Given the description of an element on the screen output the (x, y) to click on. 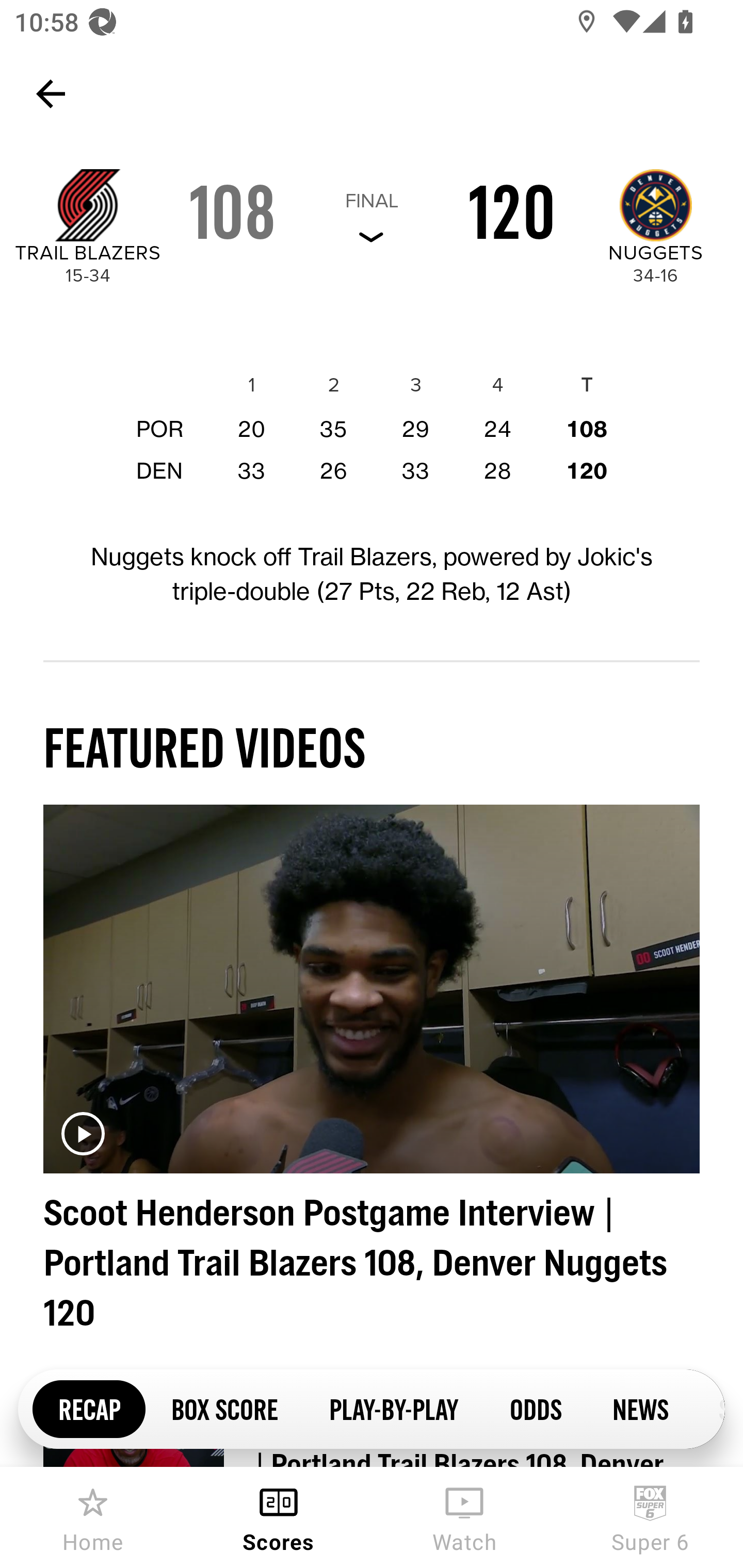
Navigate up (50, 93)
POR DEN 1 20 33 2 35 26 3 29 33 4 24 28 T 108 120 (371, 419)
FEATURED VIDEOS (204, 746)
BOX SCORE (224, 1408)
PLAY-BY-PLAY (393, 1408)
ODDS (534, 1408)
NEWS (639, 1408)
Home (92, 1517)
Watch (464, 1517)
Super 6 (650, 1517)
